Given the description of an element on the screen output the (x, y) to click on. 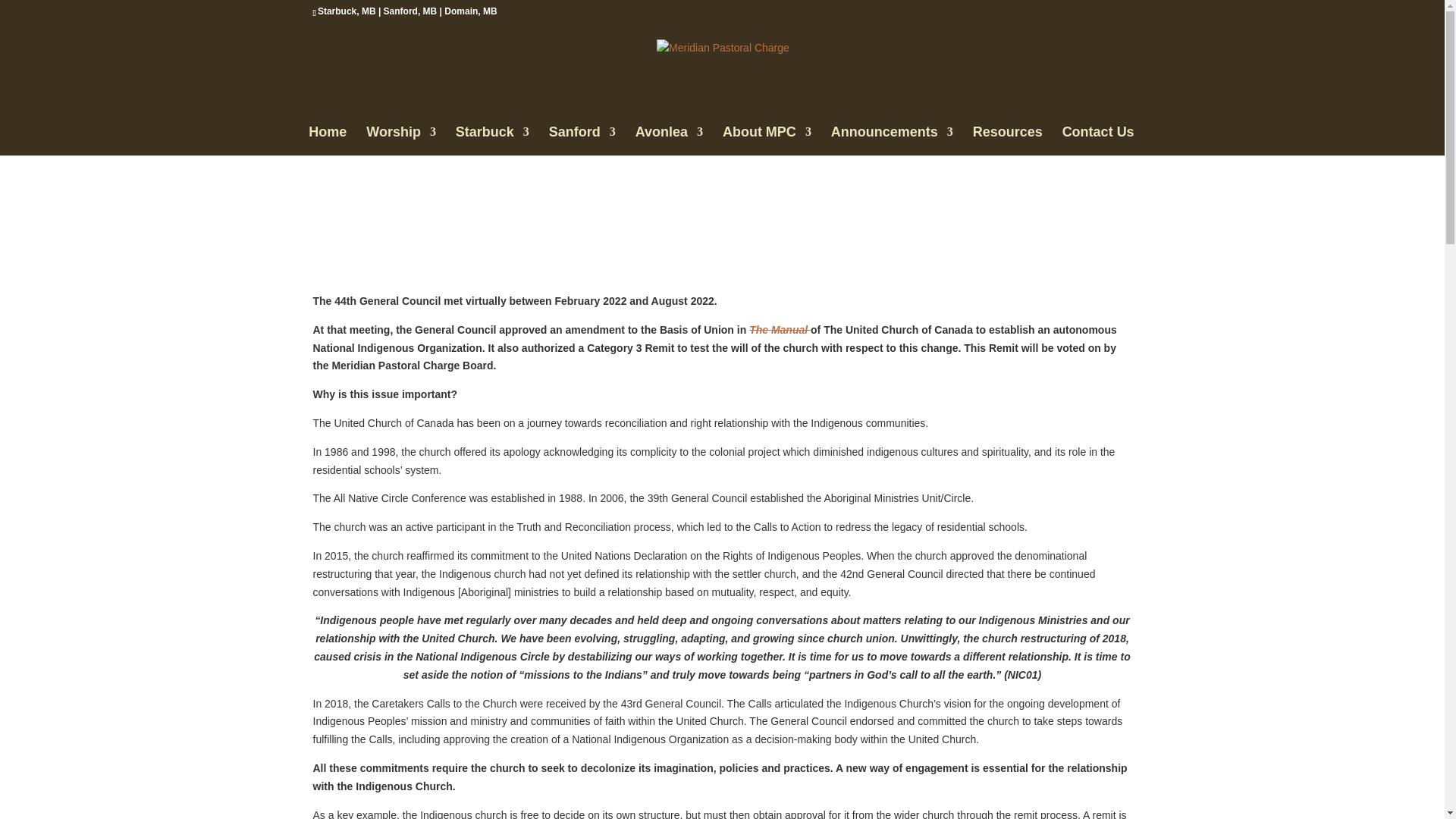
Resources (1007, 140)
Starbuck (492, 140)
The Manual (779, 329)
Contact Us (1098, 140)
Sanford (581, 140)
About MPC (766, 140)
Home (327, 140)
Worship (400, 140)
Announcements (892, 140)
Avonlea (668, 140)
